Given the description of an element on the screen output the (x, y) to click on. 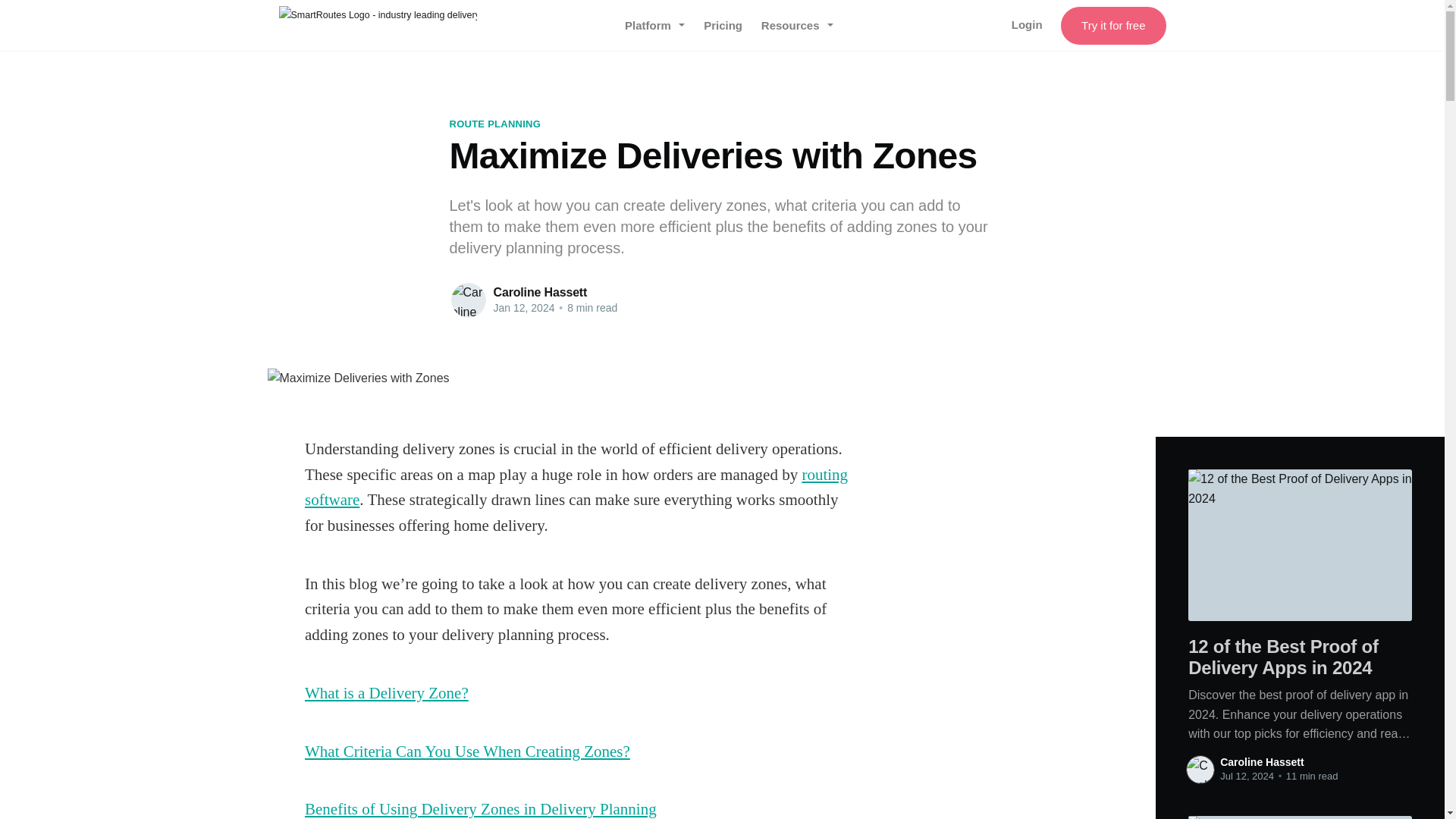
Caroline Hassett (1261, 761)
Caroline Hassett (539, 291)
ROUTE PLANNING (494, 124)
What Criteria Can You Use When Creating Zones? (467, 751)
routing software (575, 487)
Benefits of Using Delivery Zones in Delivery Planning (480, 809)
Pricing (722, 25)
Try it for free (1113, 25)
What is a Delivery Zone? (386, 692)
Login (1026, 24)
Resources (797, 25)
Platform (654, 25)
